Given the description of an element on the screen output the (x, y) to click on. 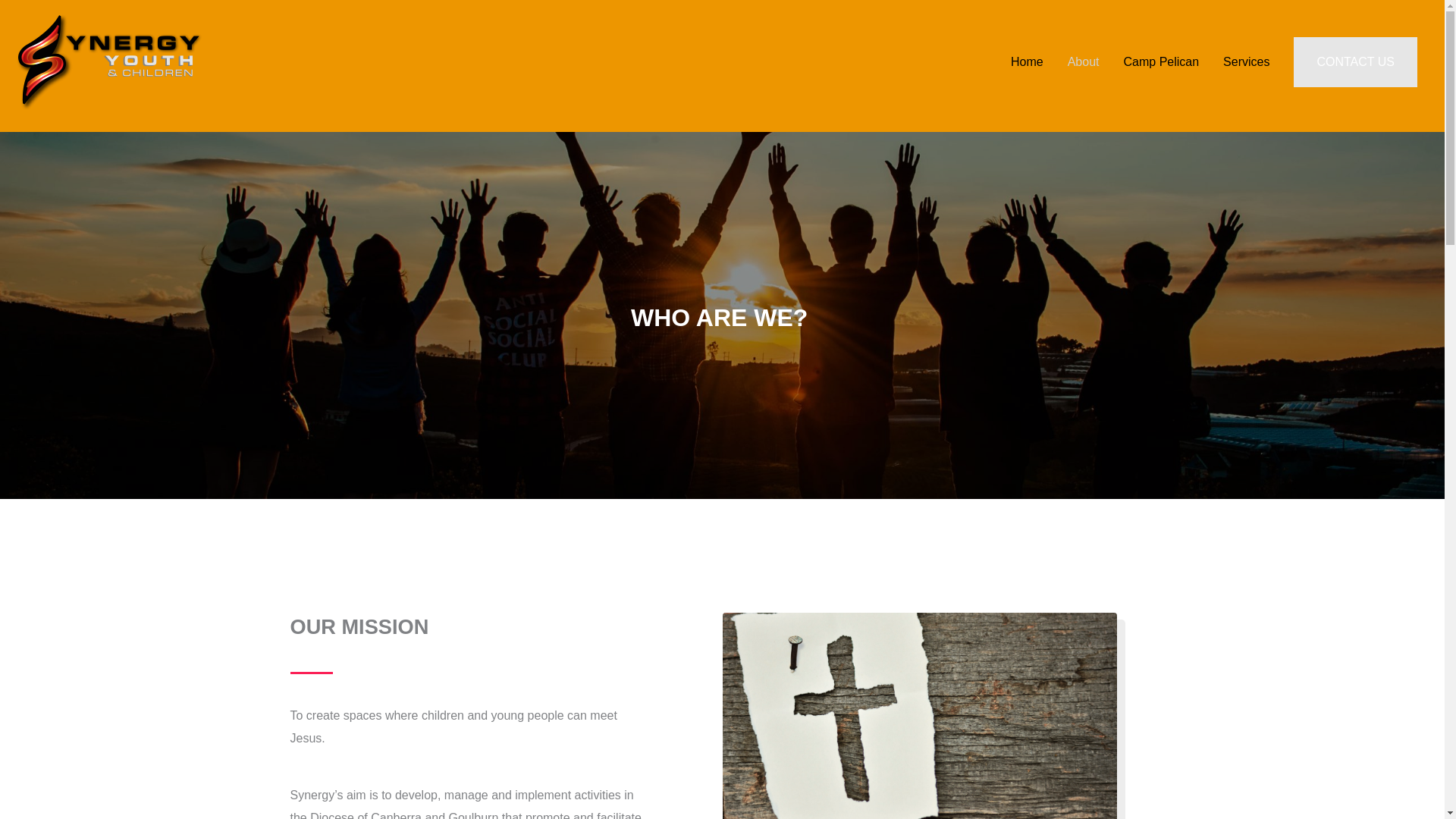
Services (1246, 61)
piqsels.com-id-jsyyp (919, 715)
About (1083, 61)
Home (1026, 61)
Camp Pelican (1161, 61)
CONTACT US (1355, 61)
